Given the description of an element on the screen output the (x, y) to click on. 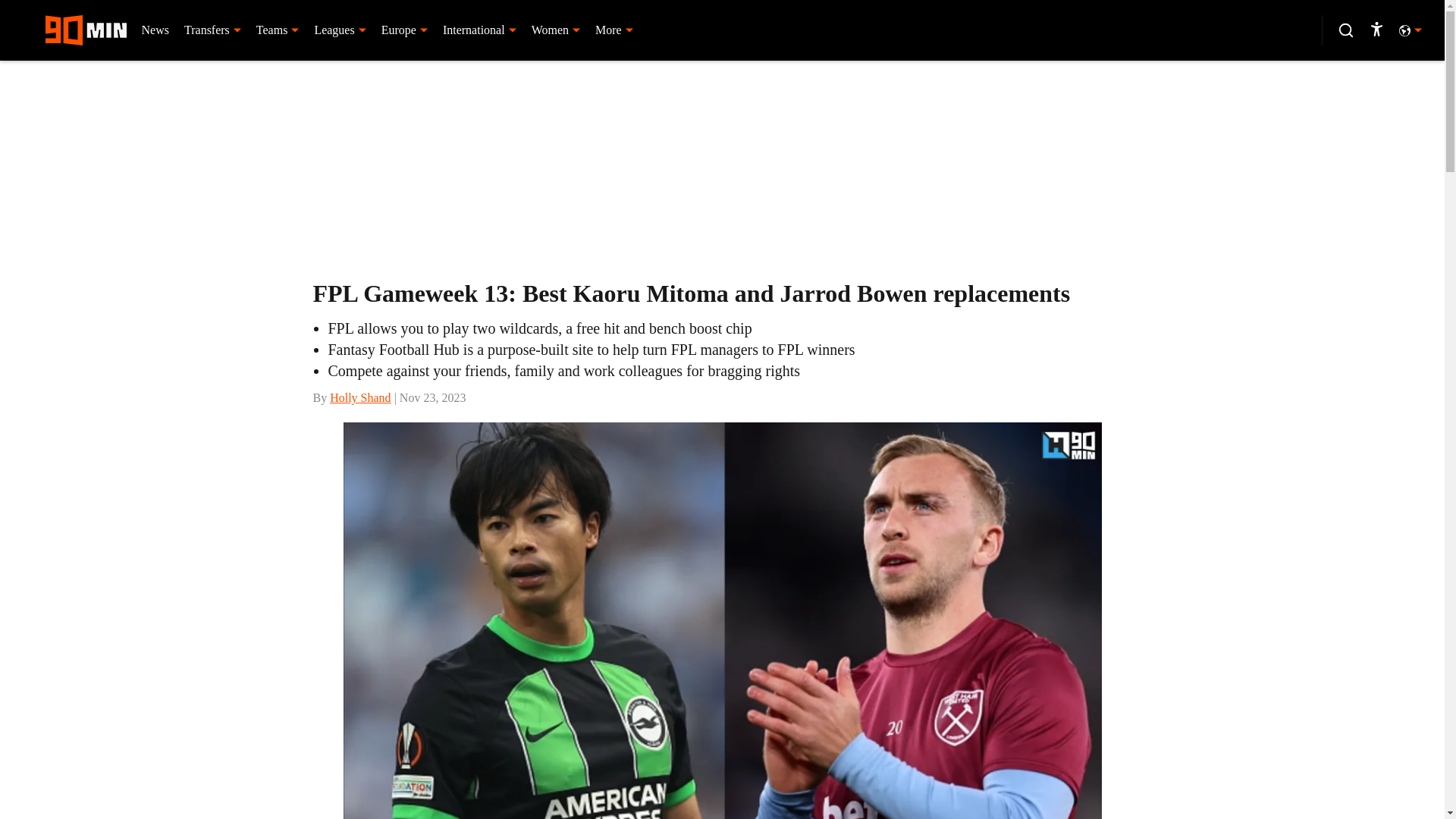
News (154, 30)
